Given the description of an element on the screen output the (x, y) to click on. 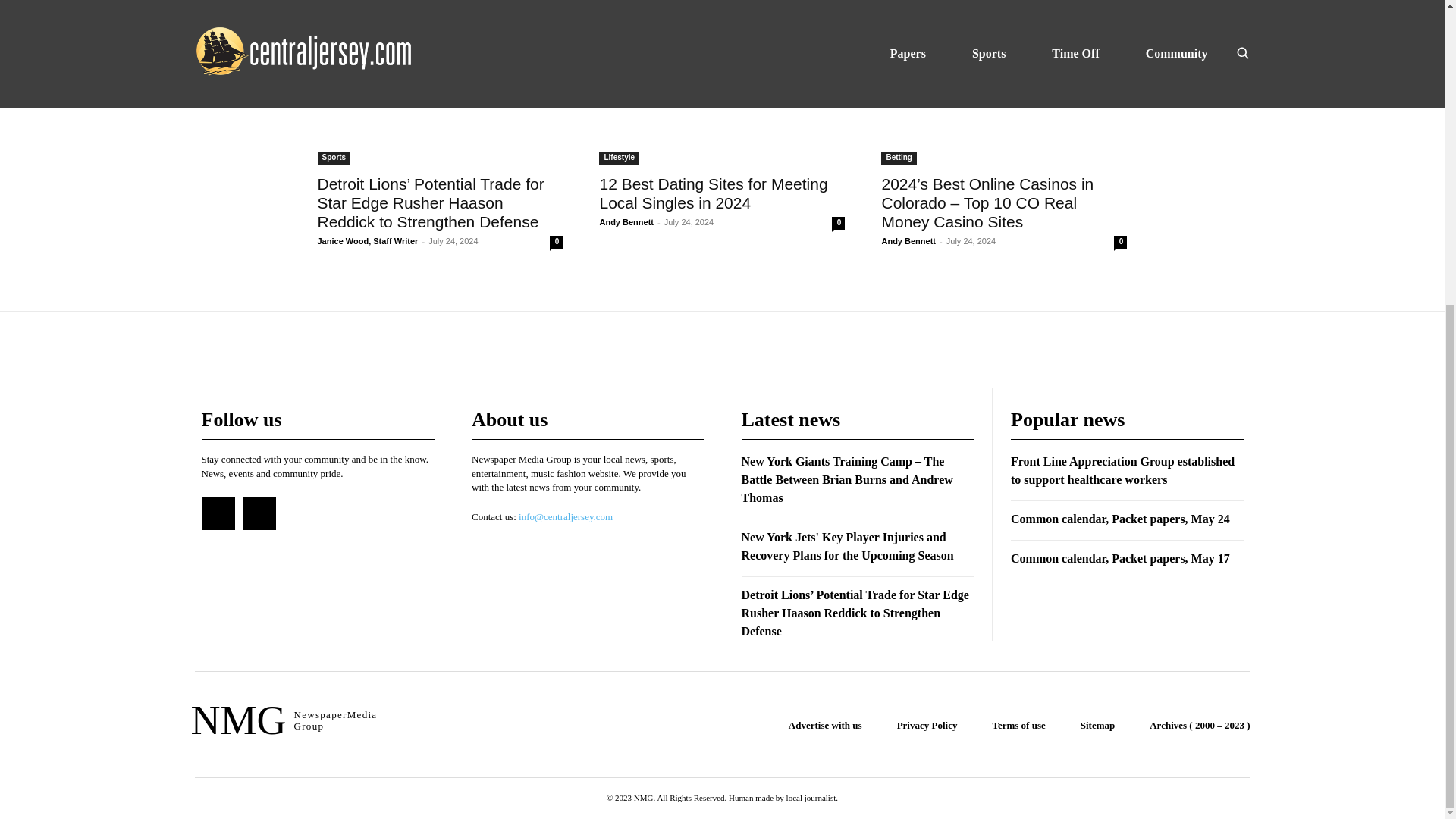
Janice Wood, Staff Writer (367, 92)
12 Best Dating Sites for Meeting Local Singles in 2024 (712, 193)
12 Best Dating Sites for Meeting Local Singles in 2024 (721, 148)
Sports (333, 10)
Betting (615, 10)
0 (556, 93)
